Given the description of an element on the screen output the (x, y) to click on. 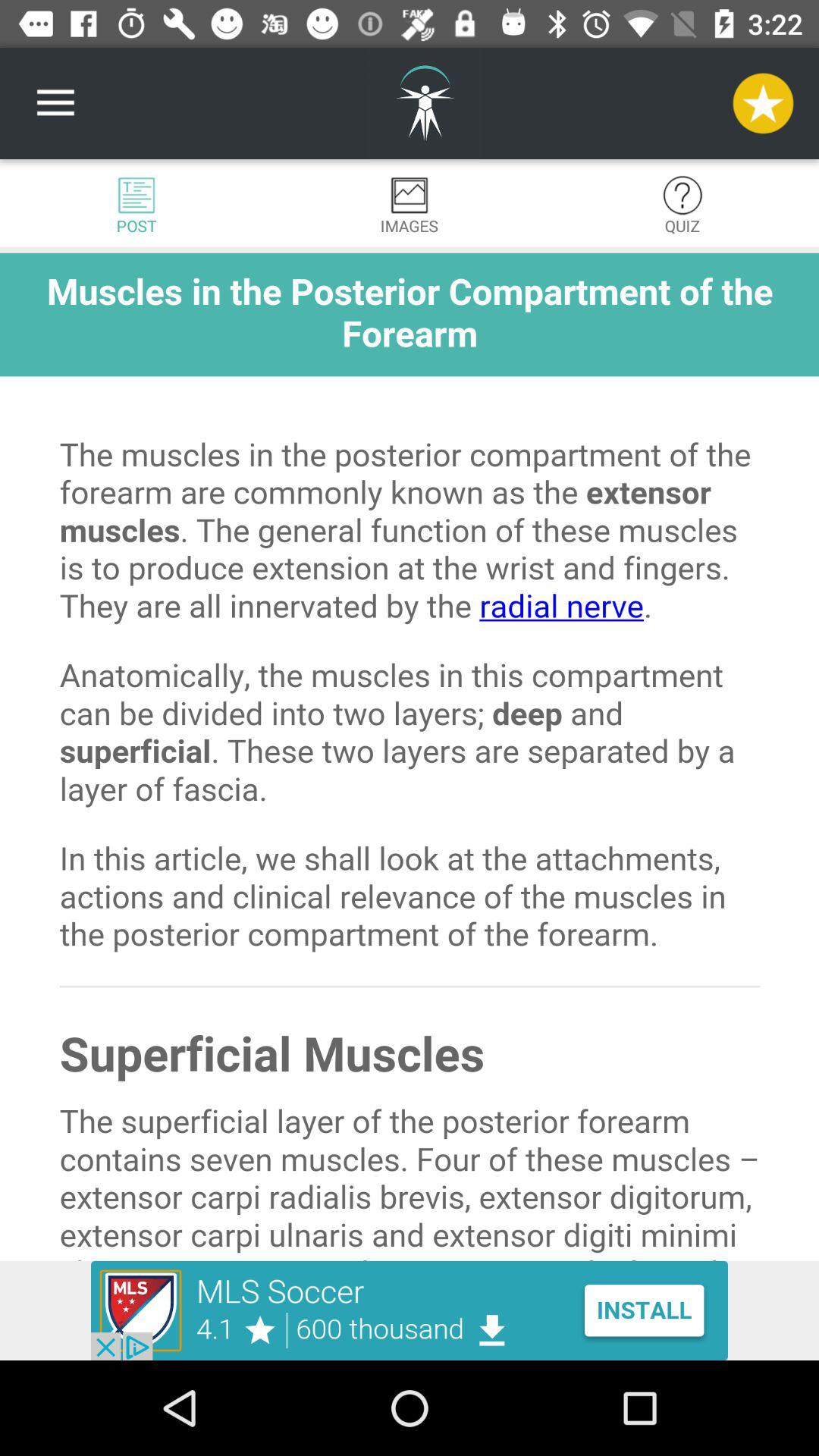
select full screen (409, 756)
